Given the description of an element on the screen output the (x, y) to click on. 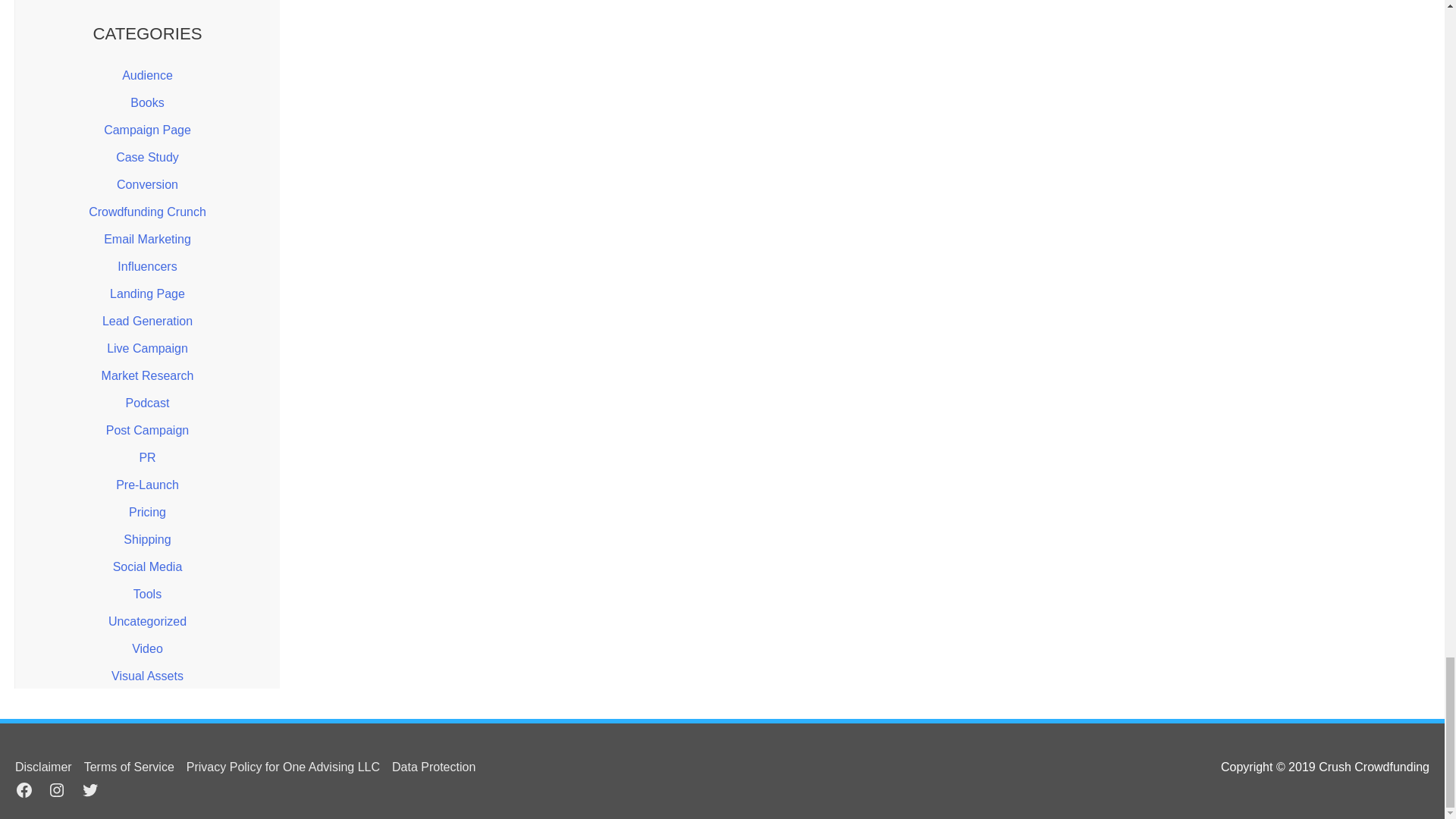
Audience (147, 74)
Campaign Page (146, 129)
Books (147, 102)
